Given the description of an element on the screen output the (x, y) to click on. 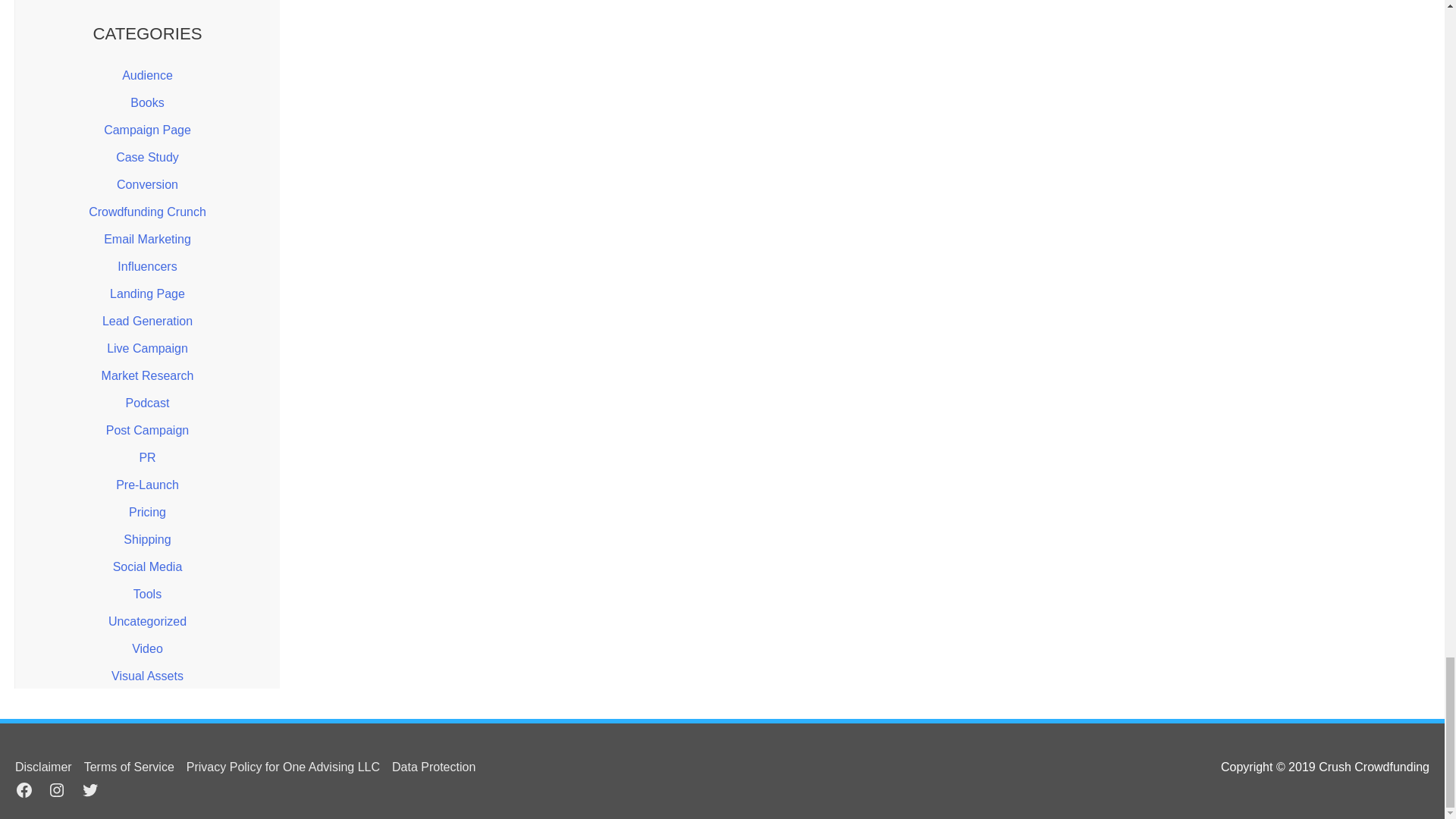
Audience (147, 74)
Campaign Page (146, 129)
Books (147, 102)
